Given the description of an element on the screen output the (x, y) to click on. 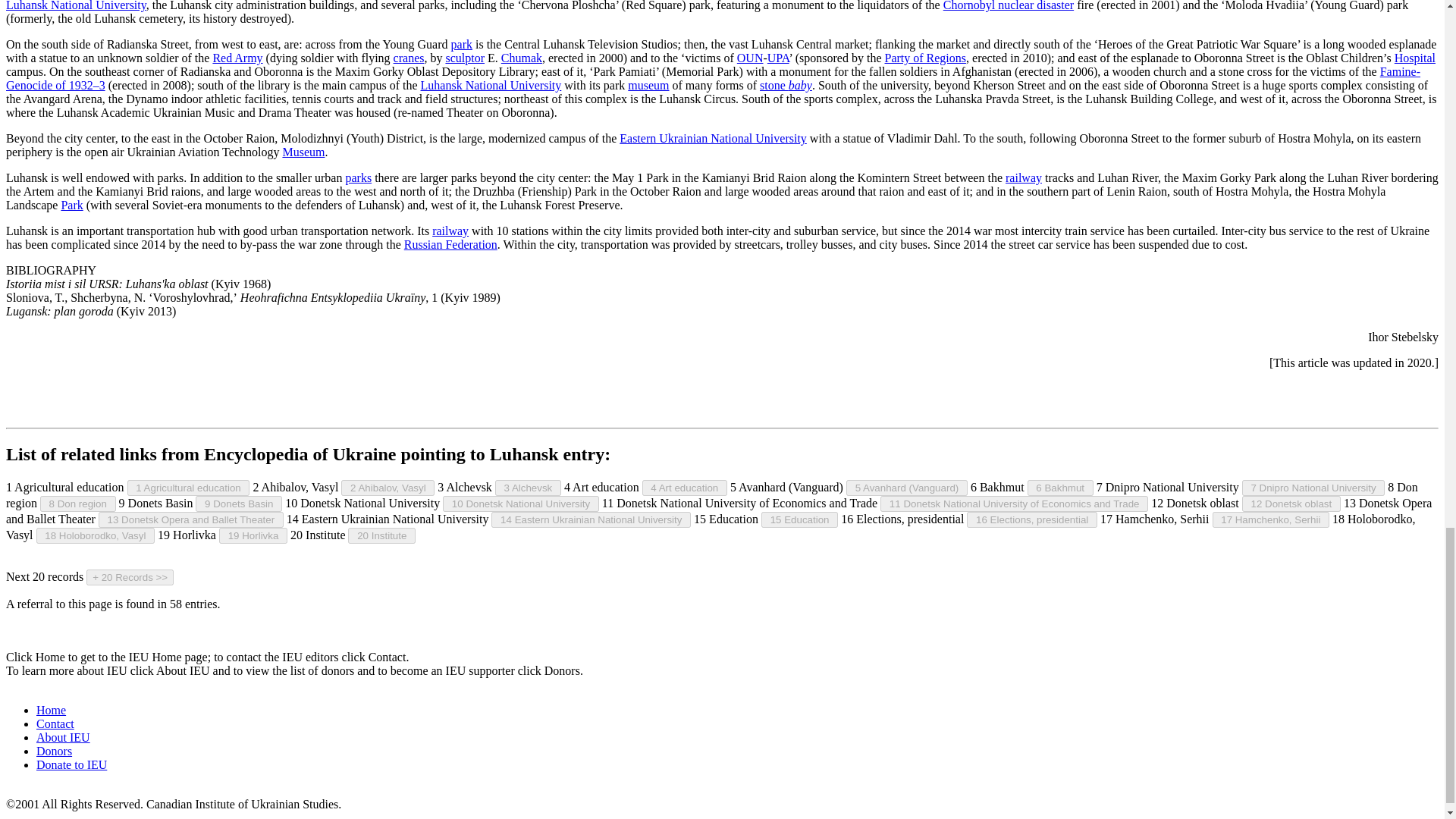
 1 Agricultural education  (189, 487)
 7 Dnipro National University  (1313, 487)
 10 Donetsk National University  (520, 503)
 9 Donets Basin  (238, 503)
 15 Education  (799, 519)
 6 Bakhmut  (1060, 487)
 11 Donetsk National University of Economics and Trade  (1014, 503)
 13 Donetsk Opera and Ballet Theater  (191, 519)
 4 Art education  (684, 487)
 2 Ahibalov, Vasyl  (386, 487)
 3 Alchevsk  (527, 487)
 12 Donetsk oblast  (1290, 503)
 16 Elections, presidential  (1031, 519)
 14 Eastern Ukrainian National University  (591, 519)
 8 Don region  (78, 503)
